Given the description of an element on the screen output the (x, y) to click on. 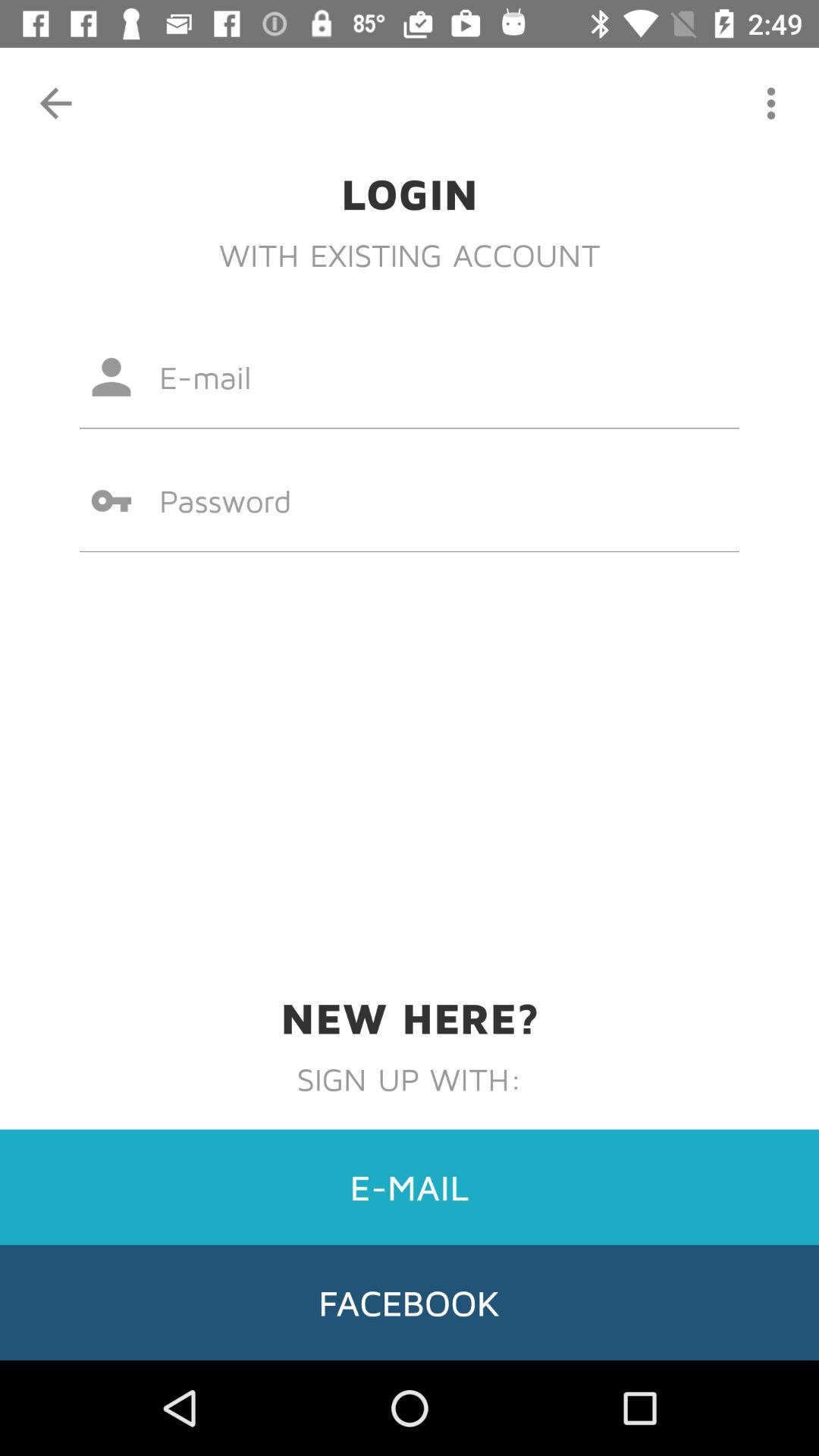
turn on the item above the login icon (771, 103)
